Given the description of an element on the screen output the (x, y) to click on. 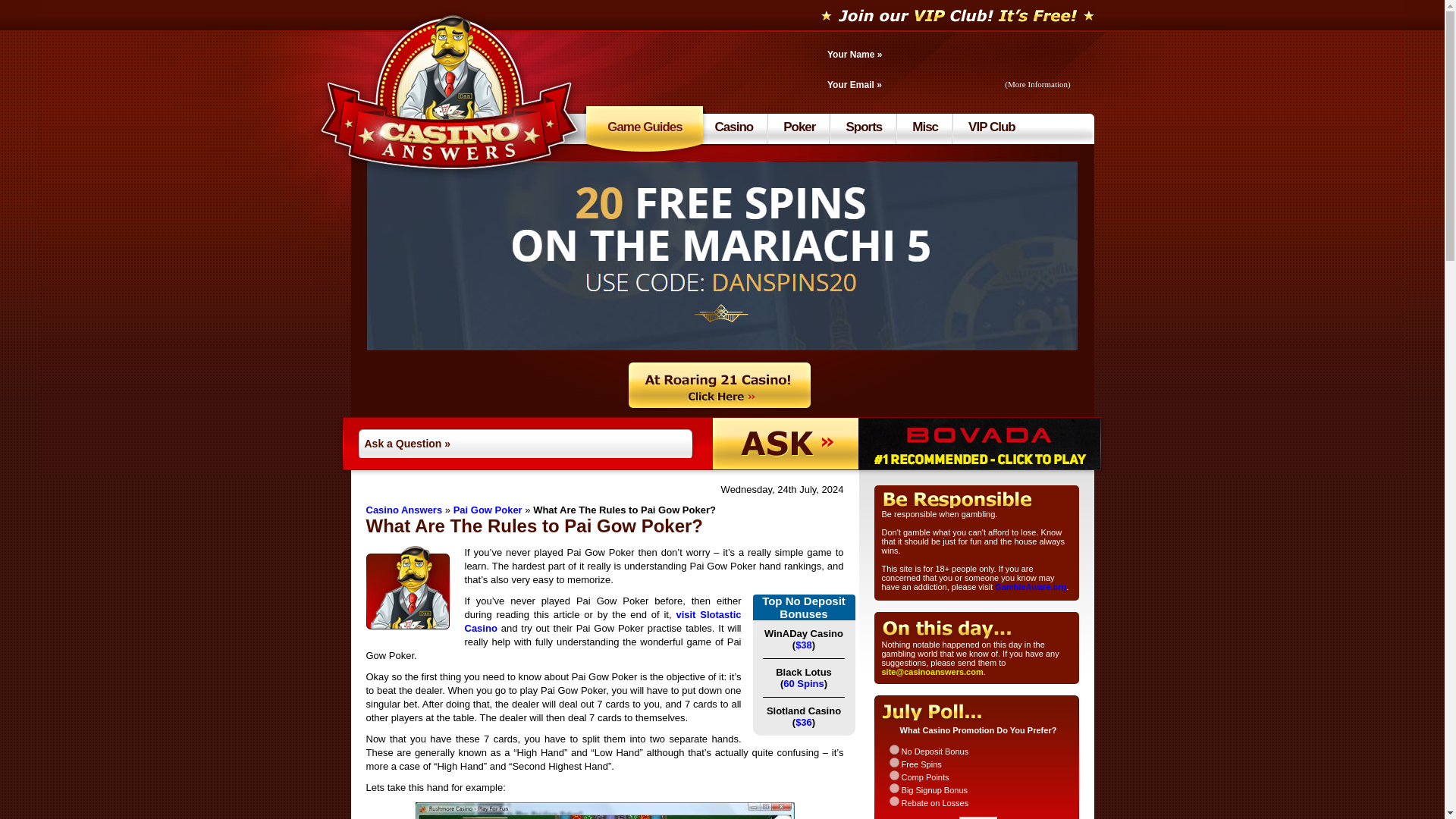
113 (893, 800)
how-to-play-pai-gow-poker-4 (604, 810)
   Vote    (978, 817)
111 (893, 775)
110 (893, 762)
112 (893, 787)
109 (893, 749)
